Given the description of an element on the screen output the (x, y) to click on. 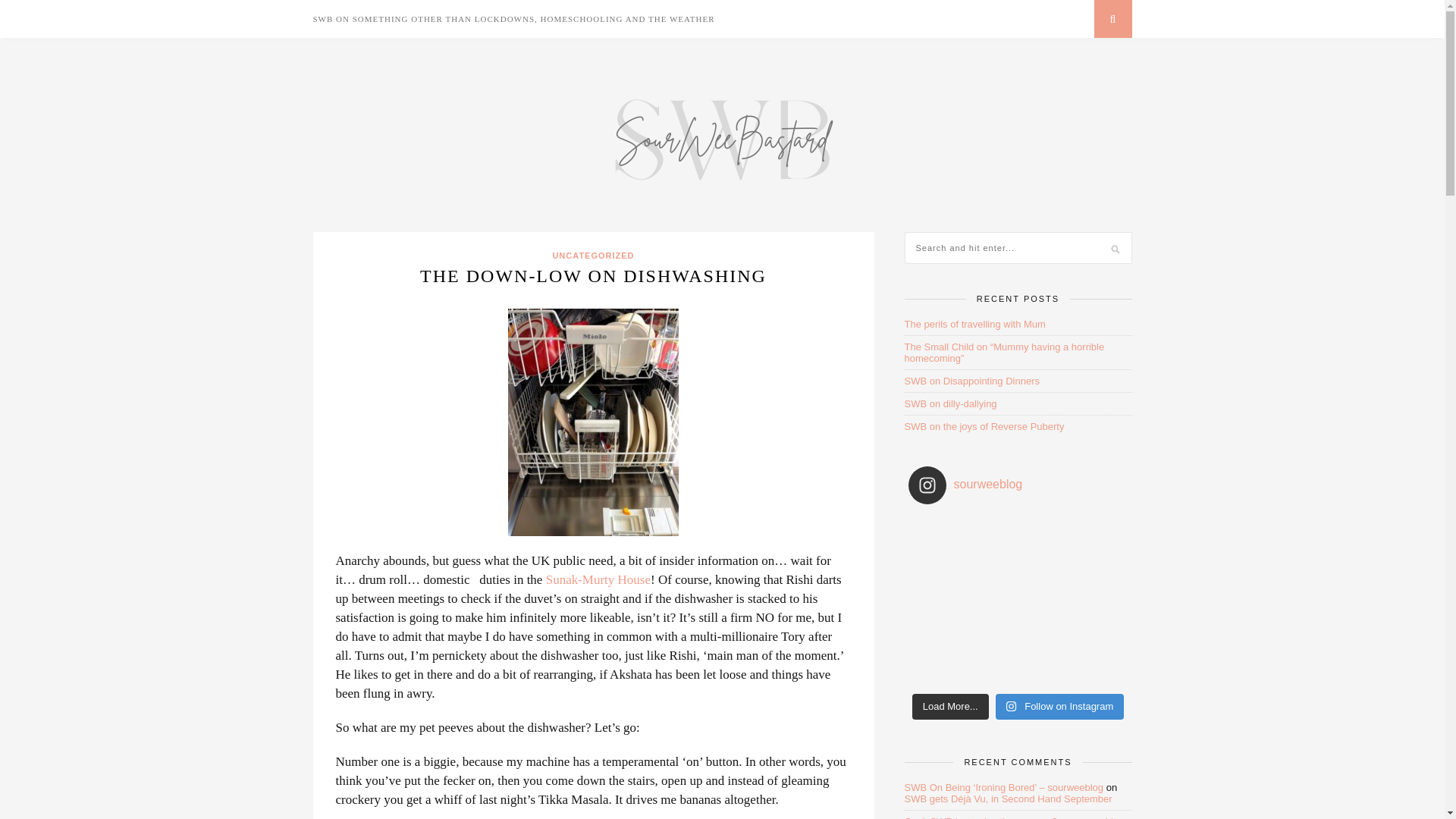
sourweeblog (1018, 485)
SWB on dilly-dallying (949, 403)
Sunak-Murty House (598, 579)
SWB on the joys of Reverse Puberty (984, 426)
UNCATEGORIZED (592, 255)
SWB on Disappointing Dinners (971, 380)
The perils of travelling with Mum (974, 324)
